Given the description of an element on the screen output the (x, y) to click on. 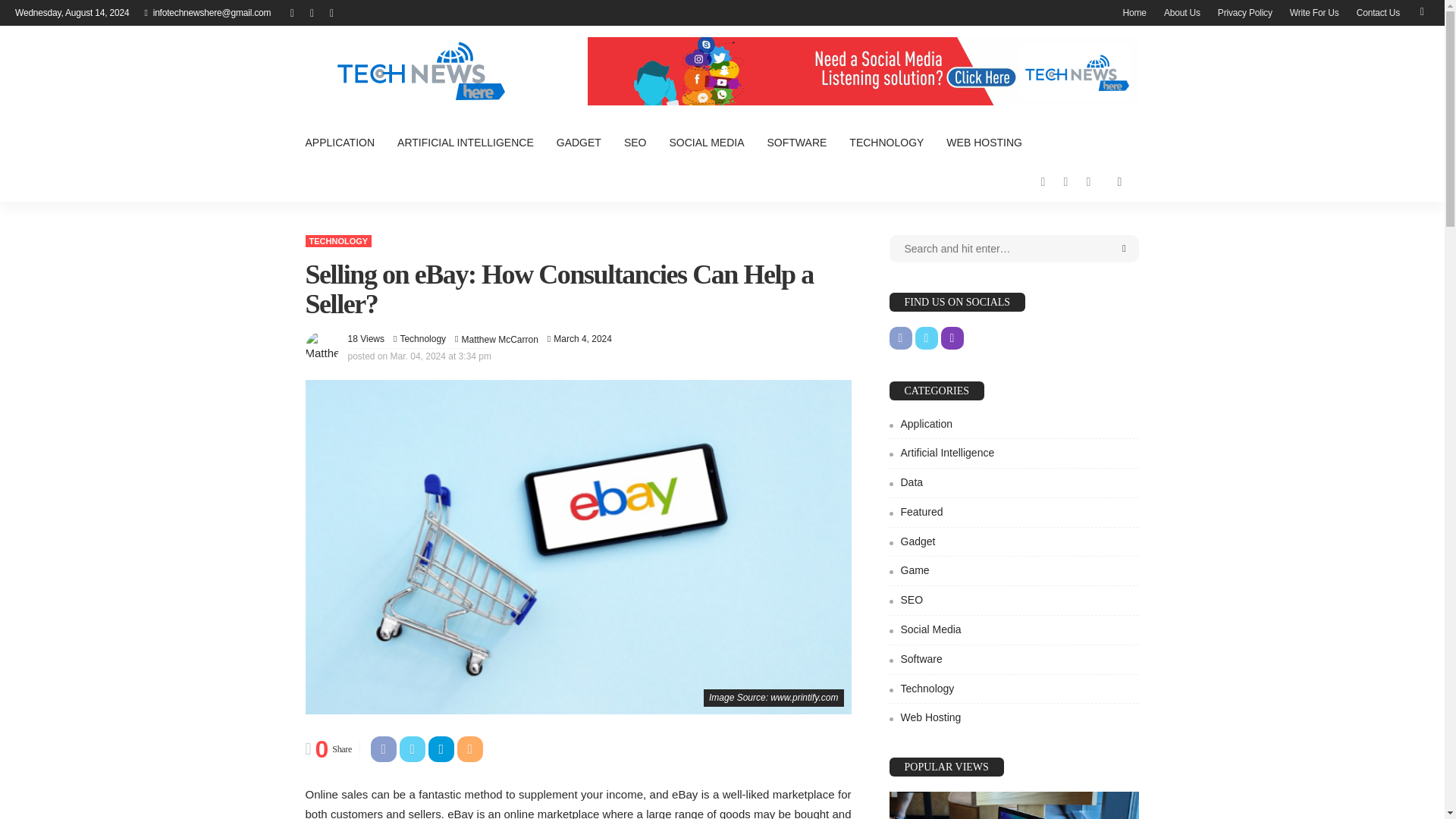
Technology (337, 241)
Technology (421, 338)
Selling on eBay: How Consultancies Can Help a Seller? (365, 338)
search (1118, 181)
